Given the description of an element on the screen output the (x, y) to click on. 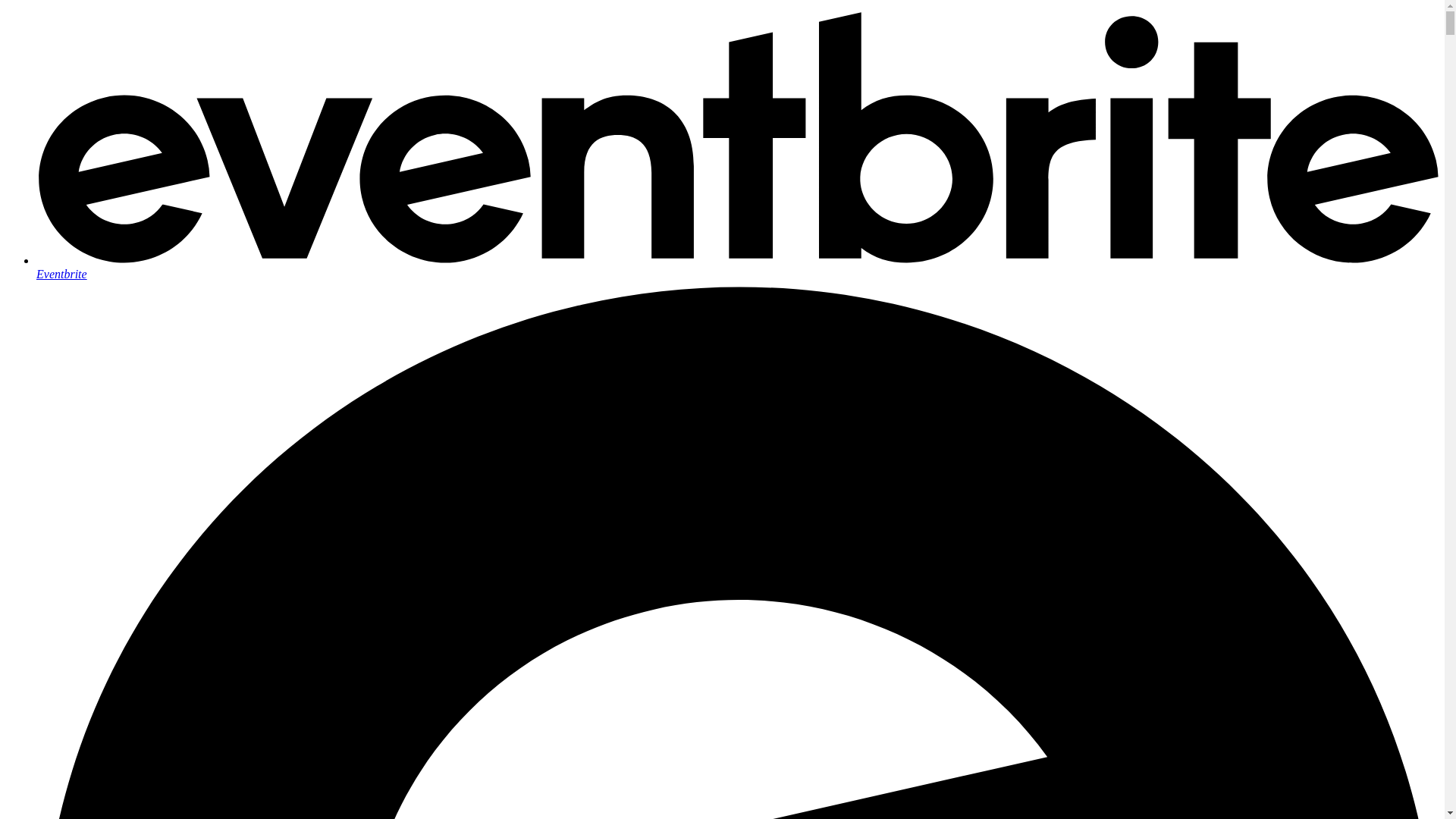
Eventbrite Element type: text (737, 267)
